Given the description of an element on the screen output the (x, y) to click on. 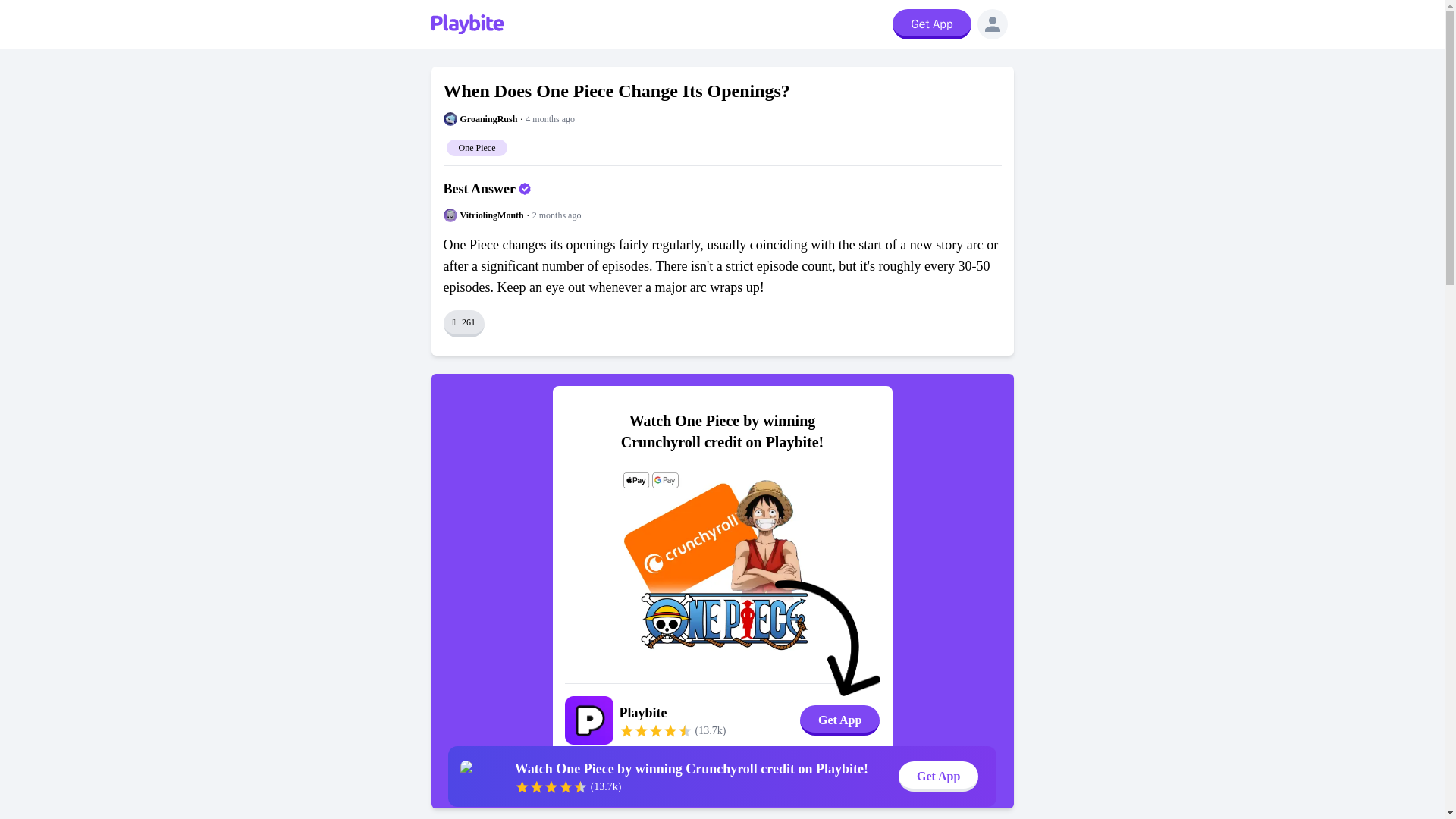
Get App (938, 776)
One Piece (475, 146)
Get App (839, 720)
Get App (931, 24)
